Given the description of an element on the screen output the (x, y) to click on. 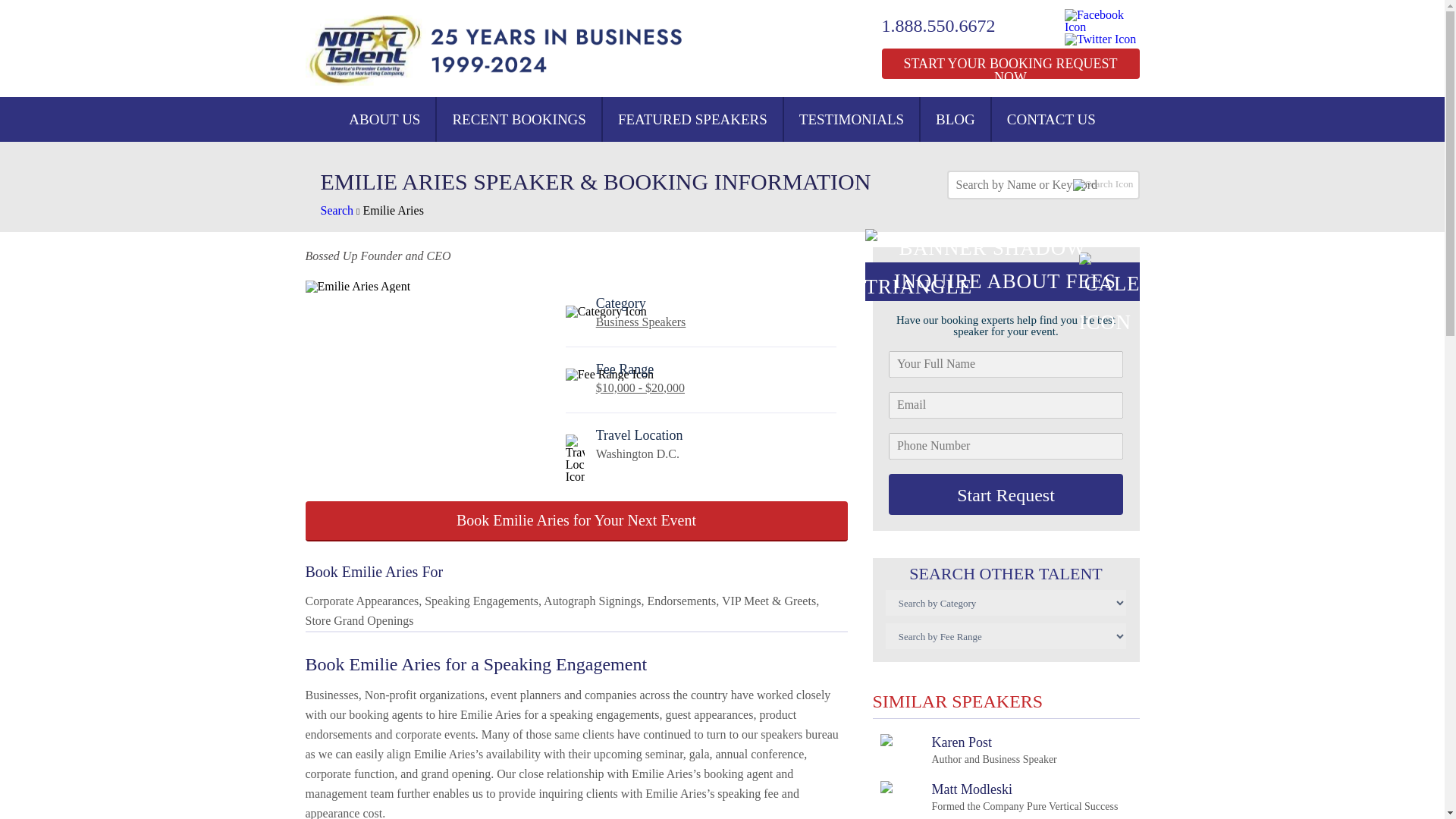
ABOUT US (384, 119)
1.888.550.6672 (947, 25)
Emilie Aries (392, 210)
Start Request (1006, 494)
START YOUR BOOKING REQUEST NOW (1009, 63)
Book Emilie Aries for Your Next Event (575, 521)
BLOG (998, 797)
CONTACT US (955, 119)
TESTIMONIALS (1050, 119)
